Given the description of an element on the screen output the (x, y) to click on. 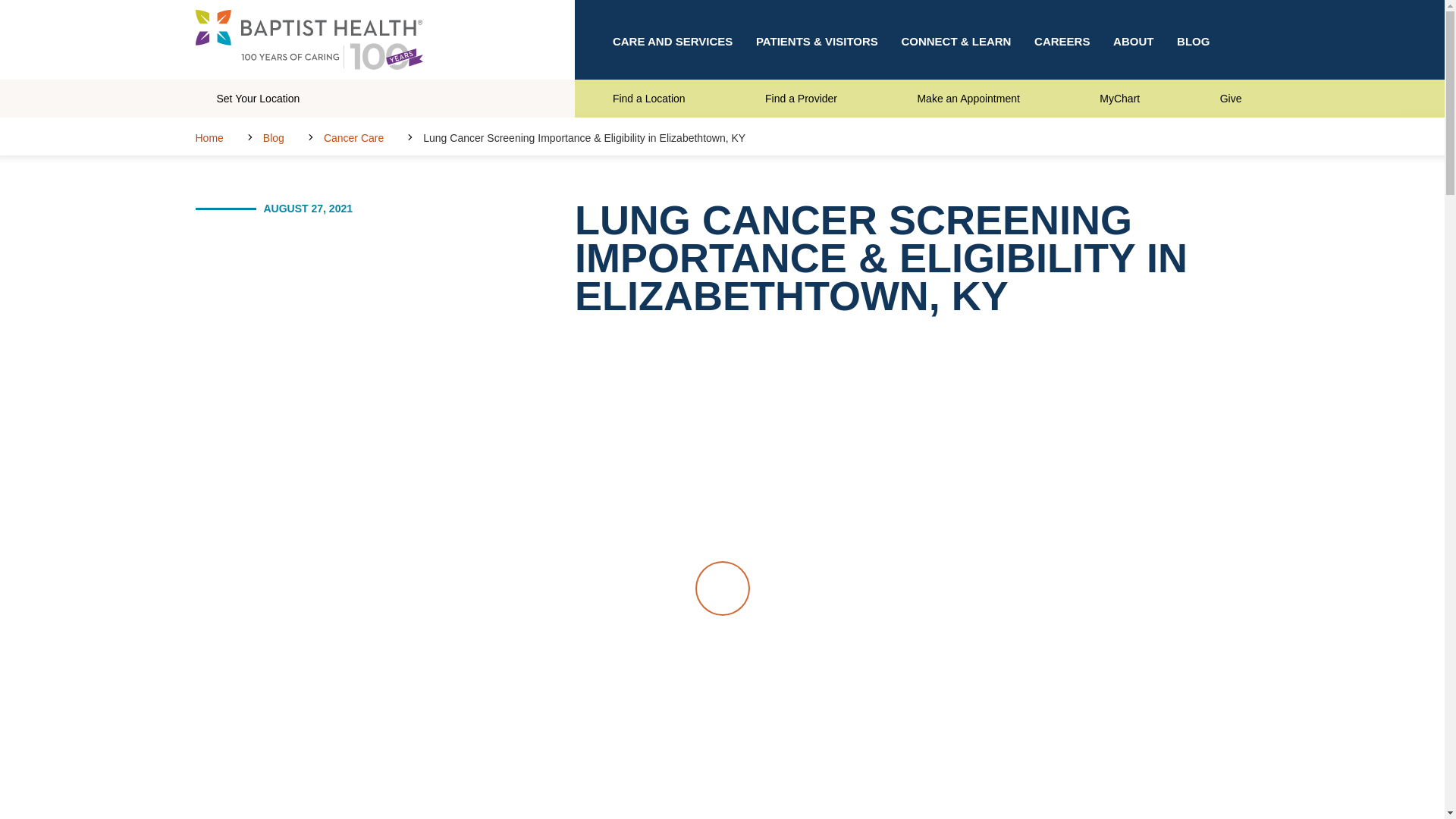
CARE AND SERVICES (672, 39)
